Given the description of an element on the screen output the (x, y) to click on. 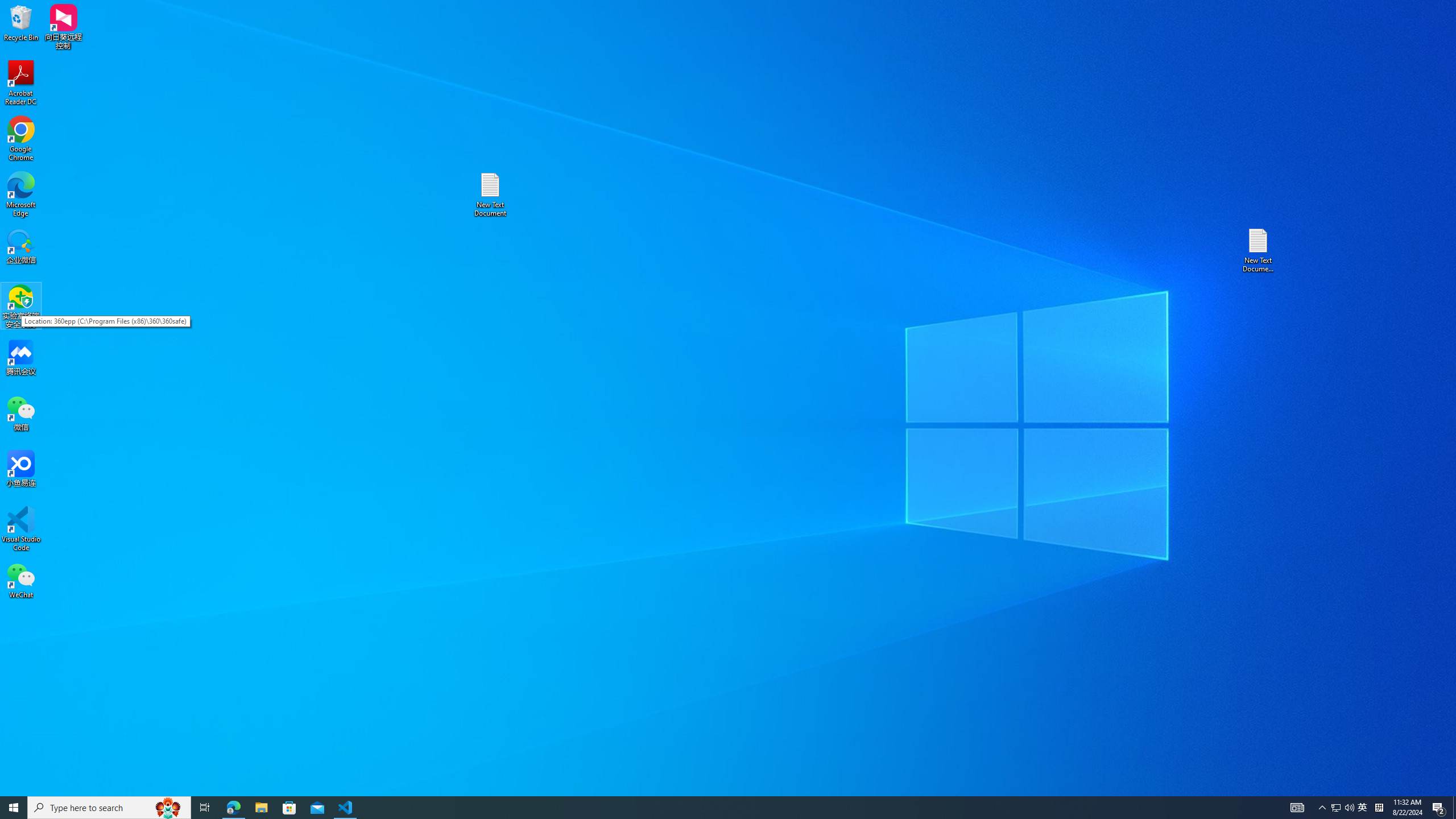
Running applications (707, 807)
New Text Document (489, 194)
WeChat (21, 580)
New Text Document (2) (1258, 250)
Recycle Bin (21, 22)
